Given the description of an element on the screen output the (x, y) to click on. 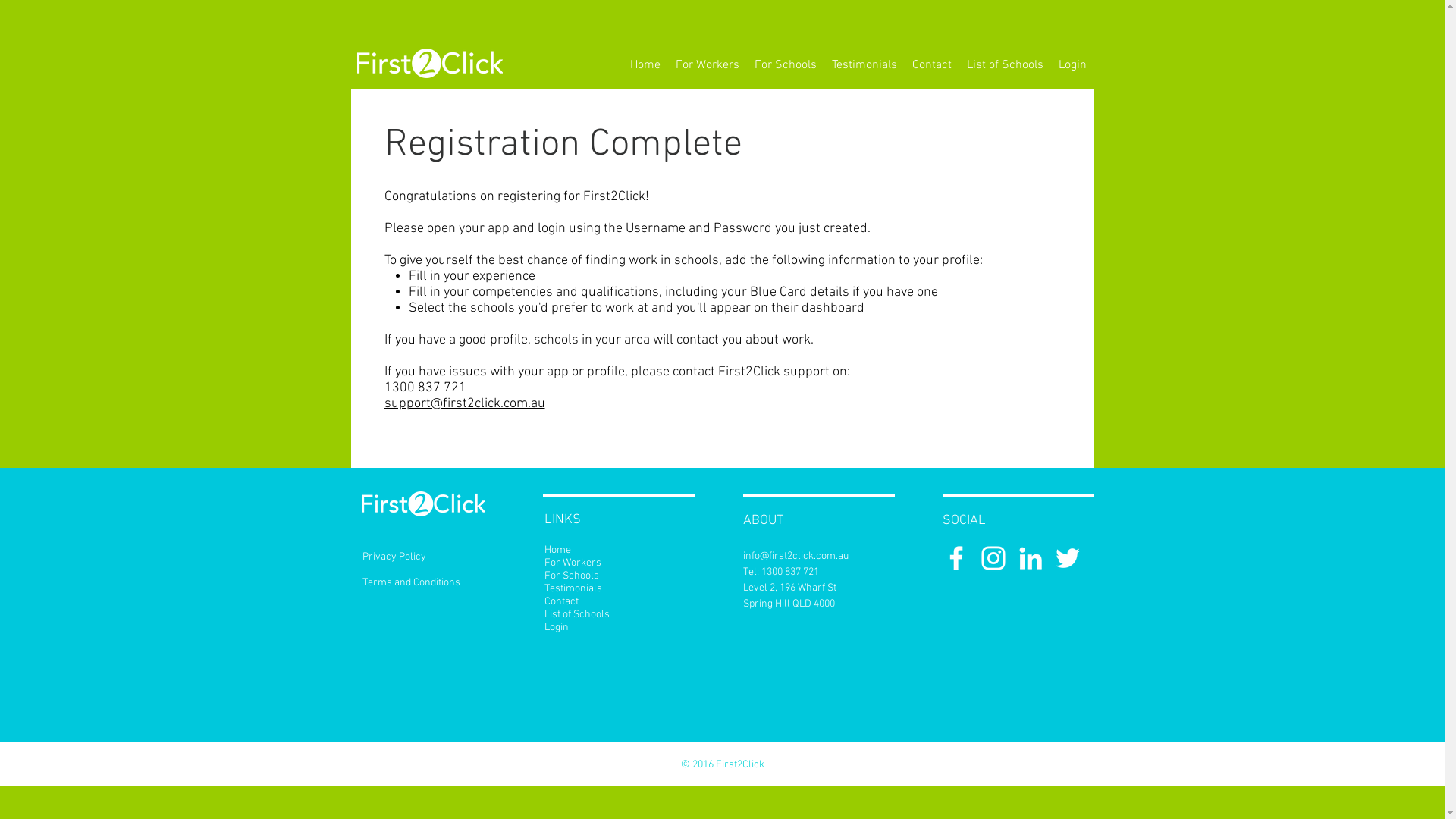
info@first2click.com.au Element type: text (795, 555)
List of Schools Element type: text (616, 614)
For Schools Element type: text (616, 575)
List of Schools Element type: text (1004, 65)
FTC Logo White Small.png Element type: hover (429, 63)
For Schools Element type: text (784, 65)
For Workers Element type: text (616, 562)
Testimonials Element type: text (616, 588)
Testimonials Element type: text (863, 65)
Login Element type: text (1072, 65)
Home Element type: text (616, 549)
Contact Element type: text (616, 601)
Home Element type: text (644, 65)
Contact Element type: text (930, 65)
For Workers Element type: text (706, 65)
Terms and Conditions Element type: text (411, 582)
Privacy Policy Element type: text (394, 556)
Login Element type: text (616, 627)
support@first2click.com.au Element type: text (463, 403)
